Given the description of an element on the screen output the (x, y) to click on. 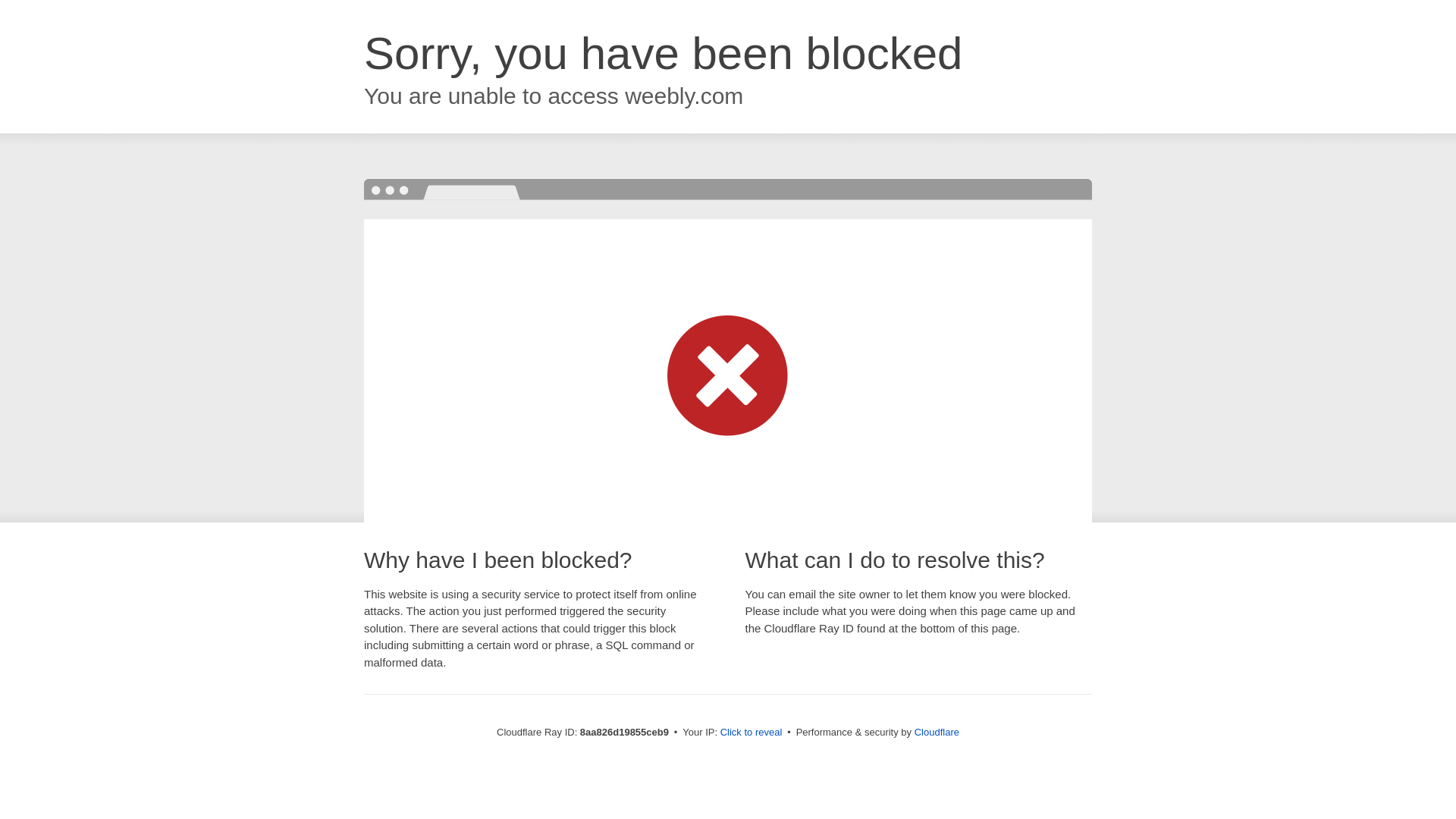
Click to reveal (751, 732)
Cloudflare (936, 731)
